Given the description of an element on the screen output the (x, y) to click on. 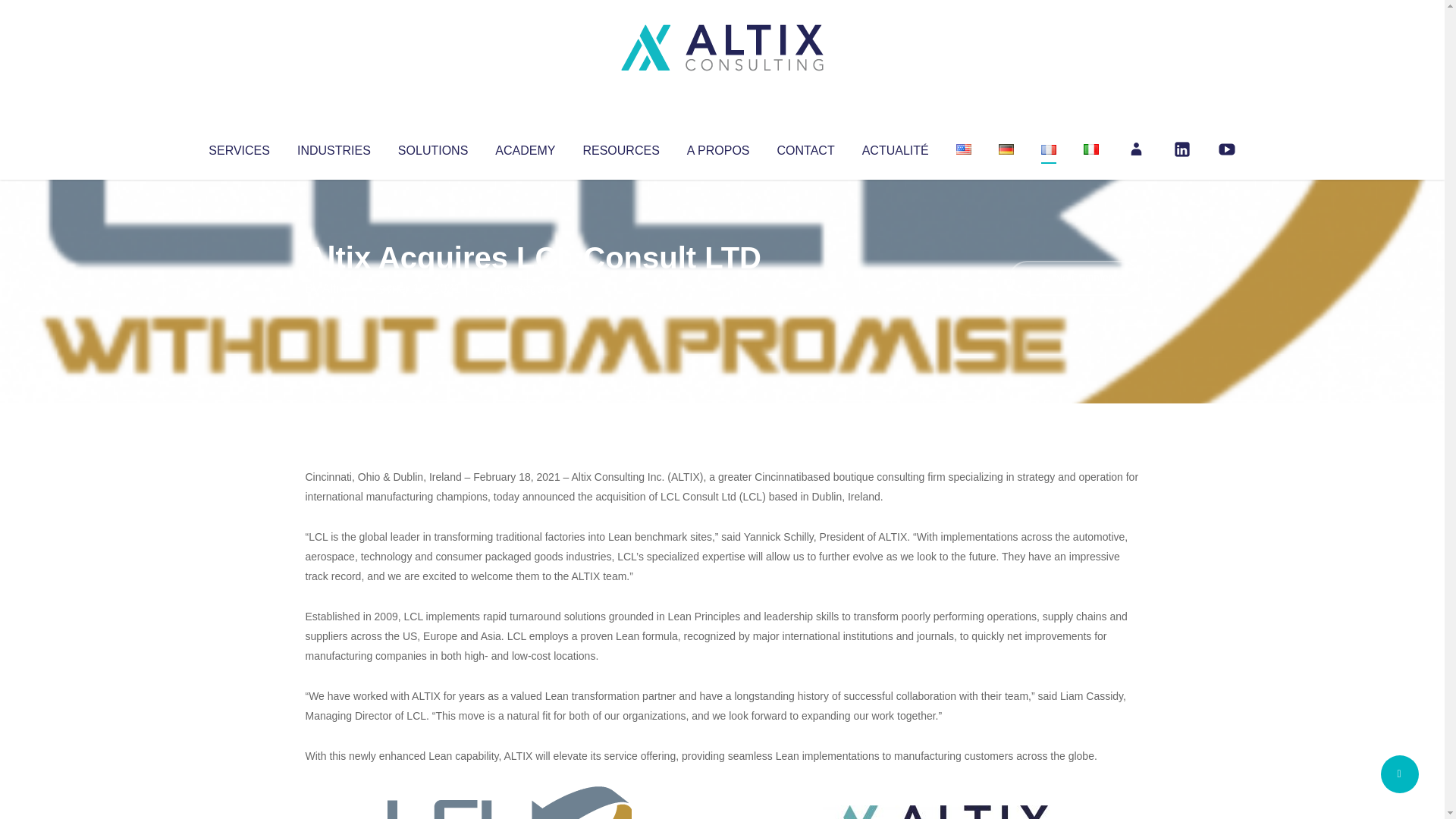
A PROPOS (718, 146)
Altix (333, 287)
SOLUTIONS (432, 146)
ACADEMY (524, 146)
INDUSTRIES (334, 146)
SERVICES (238, 146)
Uncategorized (530, 287)
Articles par Altix (333, 287)
No Comments (1073, 278)
RESOURCES (620, 146)
